Given the description of an element on the screen output the (x, y) to click on. 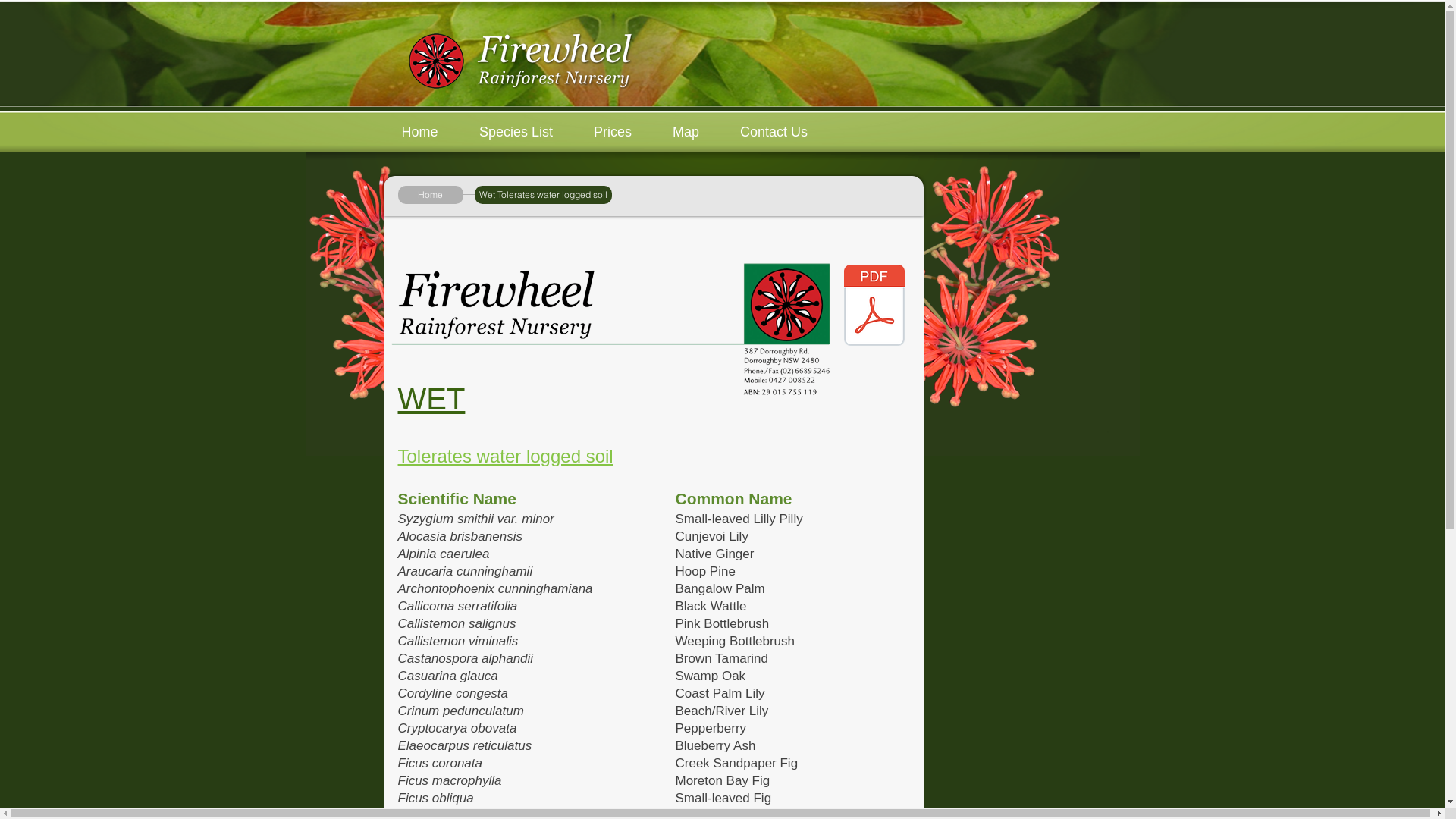
Contact Us Element type: text (772, 131)
firewheel_nursery_wet_tolerates_water_lo Element type: hover (874, 306)
Prices Element type: text (612, 131)
Home Element type: text (419, 131)
Map Element type: text (685, 131)
Home Element type: text (429, 194)
Species List Element type: text (515, 131)
